Given the description of an element on the screen output the (x, y) to click on. 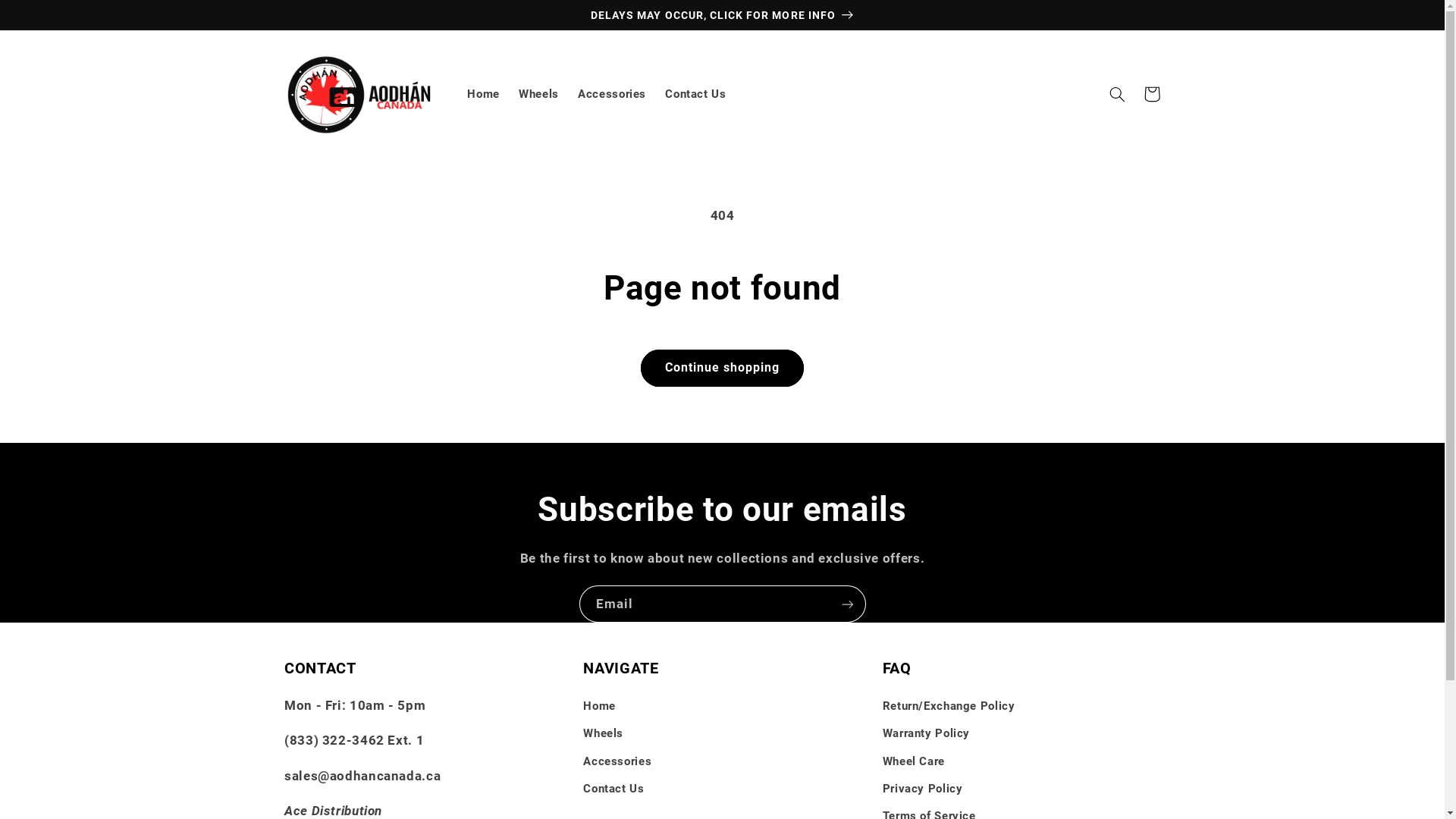
Accessories Element type: text (617, 761)
Continue shopping Element type: text (721, 367)
Warranty Policy Element type: text (925, 733)
Contact Us Element type: text (613, 789)
Home Element type: text (599, 708)
Privacy Policy Element type: text (922, 789)
Accessories Element type: text (611, 93)
Contact Us Element type: text (695, 93)
Cart Element type: text (1151, 93)
Wheels Element type: text (603, 733)
Wheels Element type: text (538, 93)
Home Element type: text (483, 93)
DELAYS MAY OCCUR, CLICK FOR MORE INFO Element type: text (722, 14)
Wheel Care Element type: text (913, 761)
Return/Exchange Policy Element type: text (948, 708)
